Given the description of an element on the screen output the (x, y) to click on. 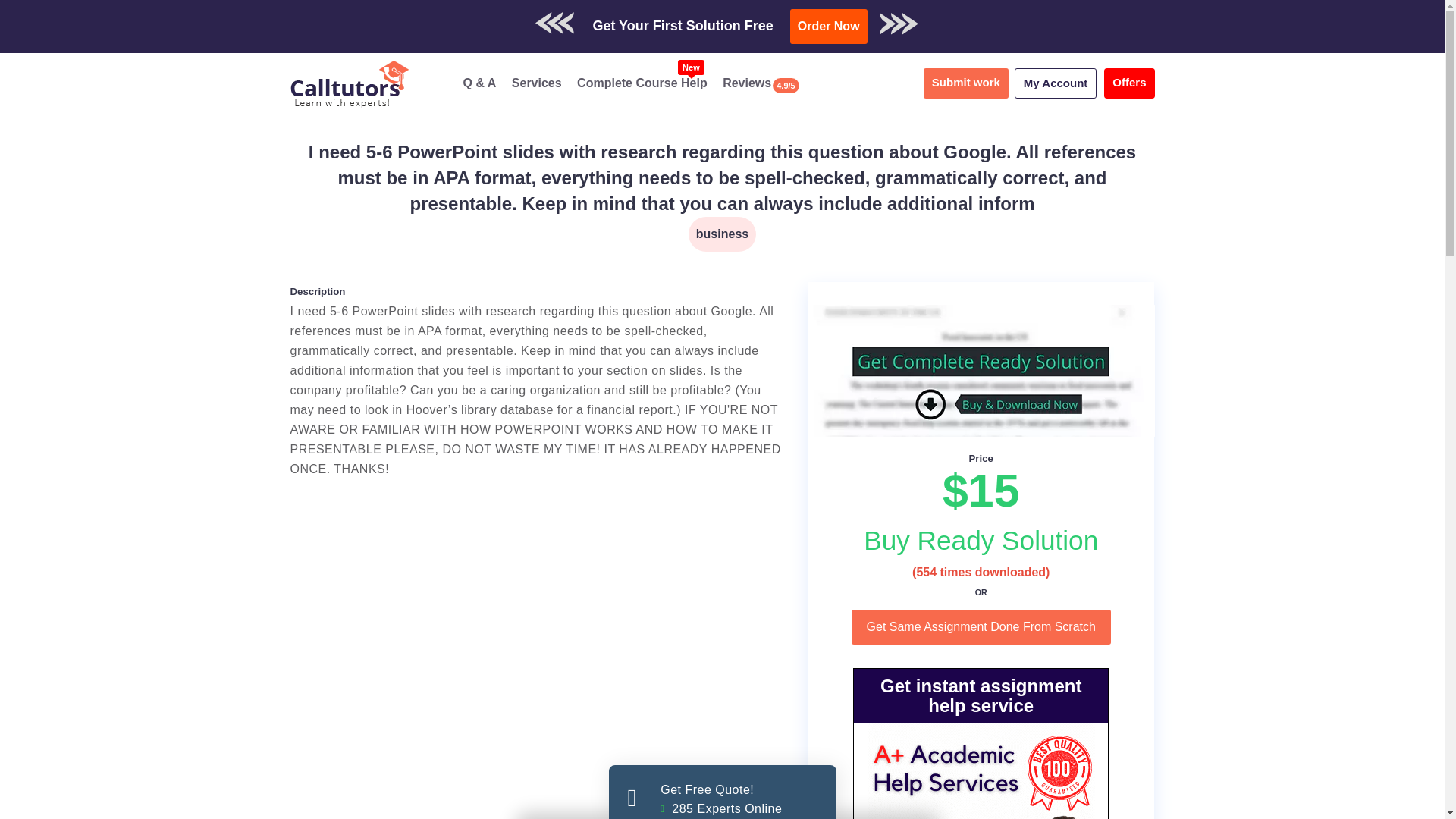
Buy Ready Solution (981, 540)
Get Same Assignment Done From Scratch (641, 82)
Assignment Subject (980, 626)
My Account (721, 234)
Submit Work (1055, 82)
Buy Ready Soluion (773, 19)
Order Now (721, 791)
Services (981, 540)
Submit work (828, 26)
Get Same Assignment Done From Scratch (537, 82)
Offers (966, 82)
Assignment Title (980, 626)
Download Sample (1128, 82)
